Given the description of an element on the screen output the (x, y) to click on. 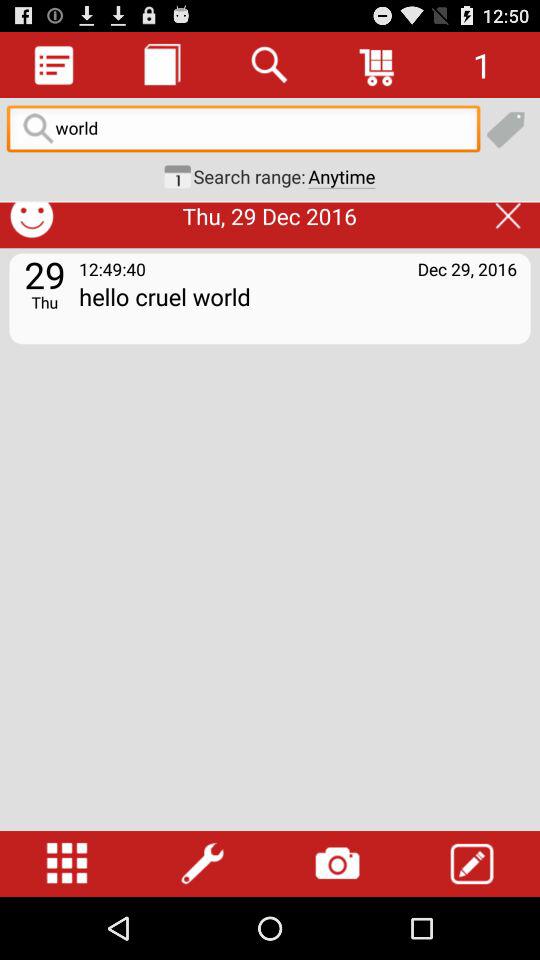
improper tagging (469, 179)
click on the smiley (31, 215)
select settings button (202, 863)
click on anytime (340, 176)
